Given the description of an element on the screen output the (x, y) to click on. 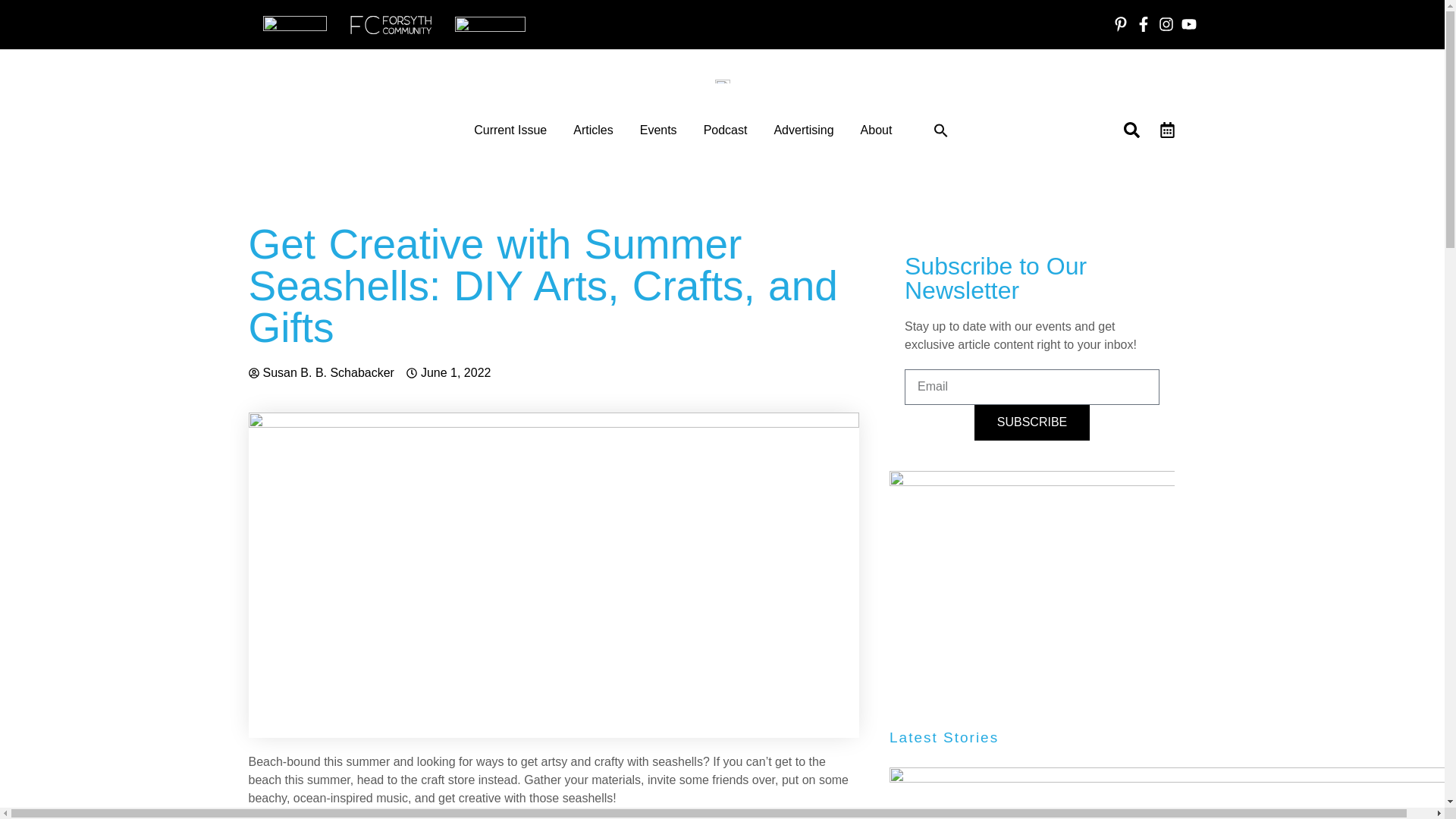
About (876, 130)
Articles (592, 130)
Current Issue (510, 130)
Podcast (725, 130)
Events (658, 130)
Advertising (802, 130)
